Given the description of an element on the screen output the (x, y) to click on. 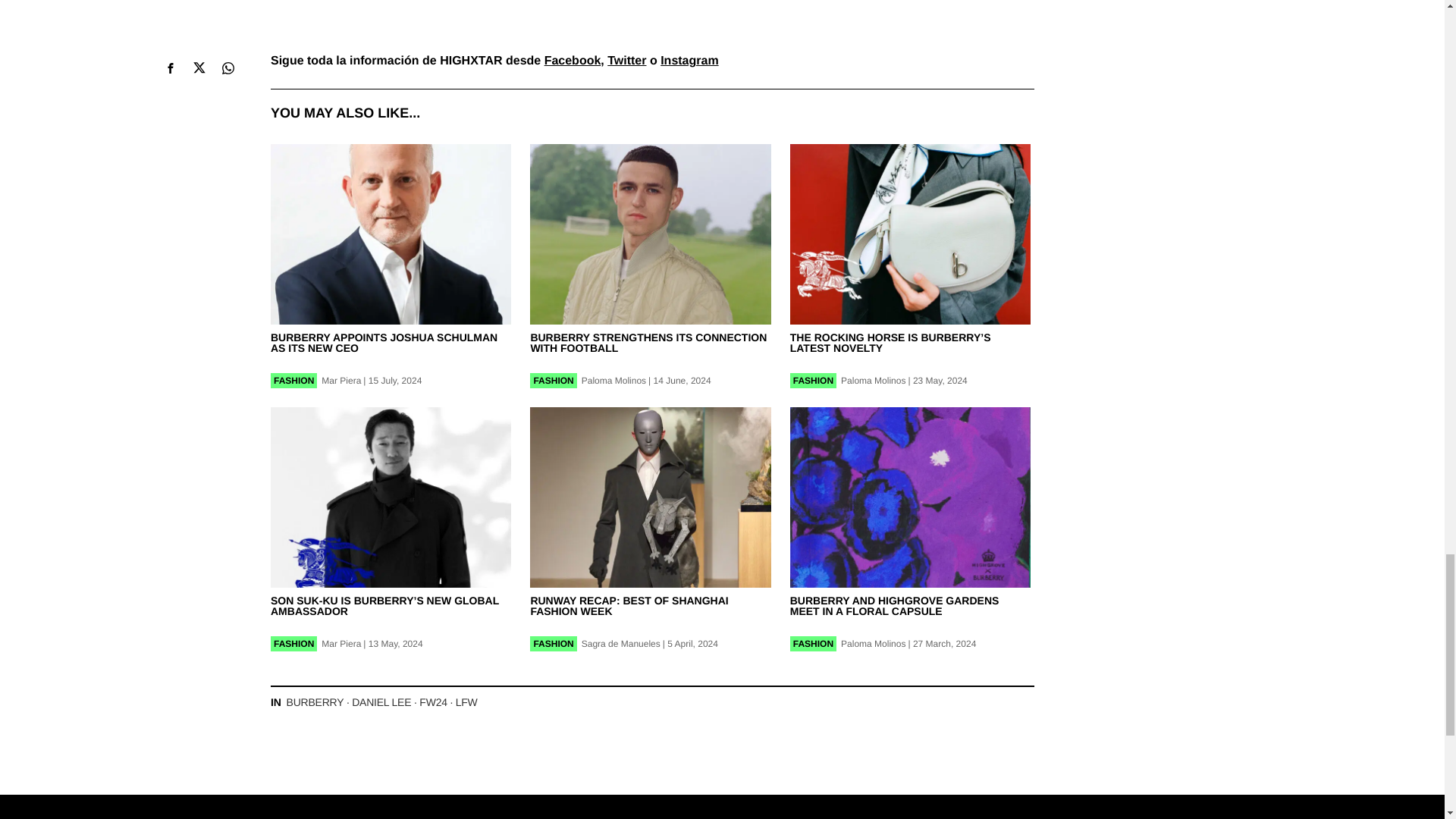
Highxtar Twitter (626, 60)
Highxtar Instagram (689, 60)
Highxtar Facebook (572, 60)
